Given the description of an element on the screen output the (x, y) to click on. 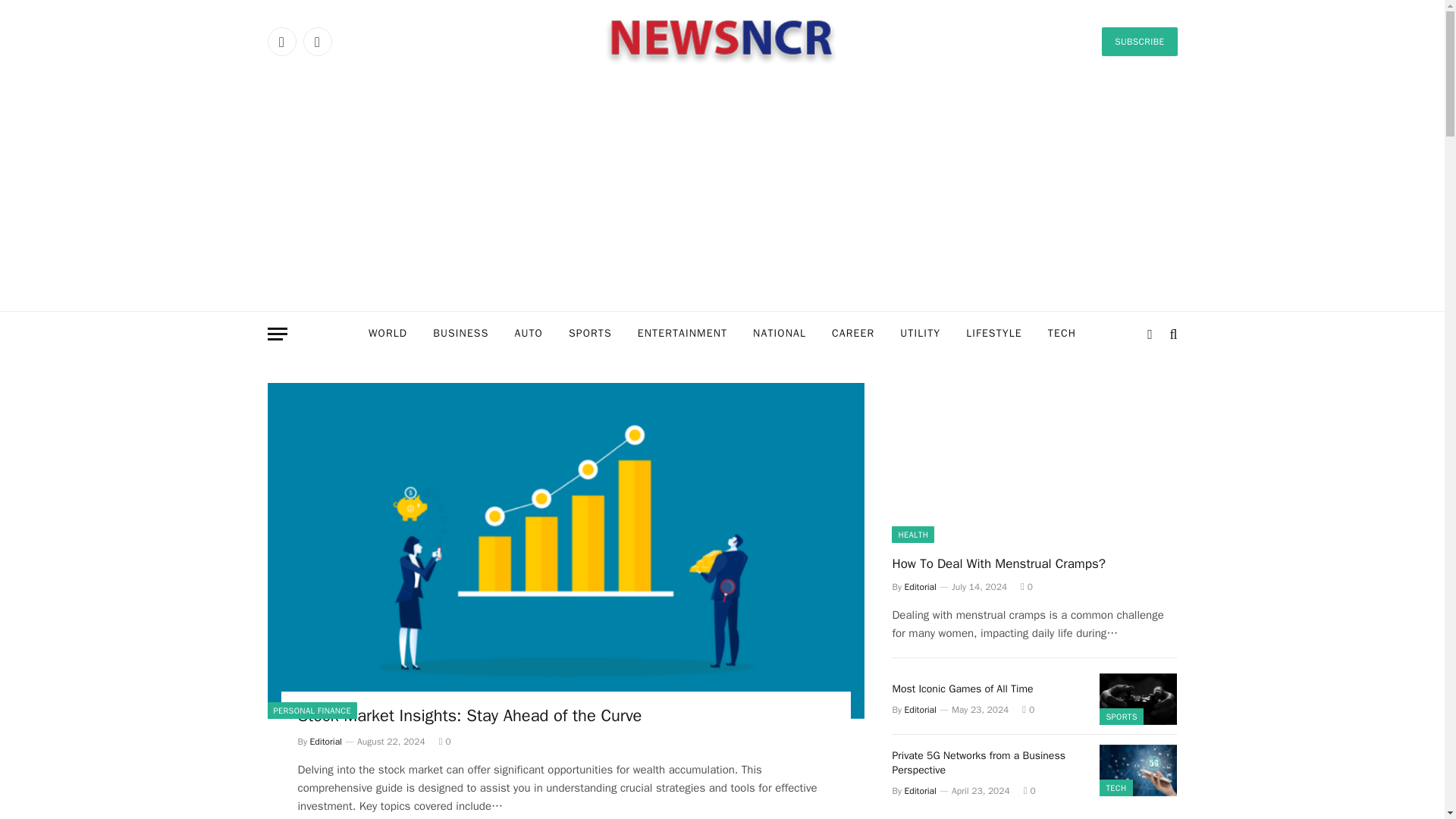
LIFESTYLE (994, 334)
AUTO (528, 334)
ENTERTAINMENT (681, 334)
SUBSCRIBE (1139, 41)
Posts by Editorial (920, 586)
How To Deal With Menstrual Cramps? (1033, 462)
TECH (1062, 334)
Facebook (280, 41)
NATIONAL (778, 334)
